Given the description of an element on the screen output the (x, y) to click on. 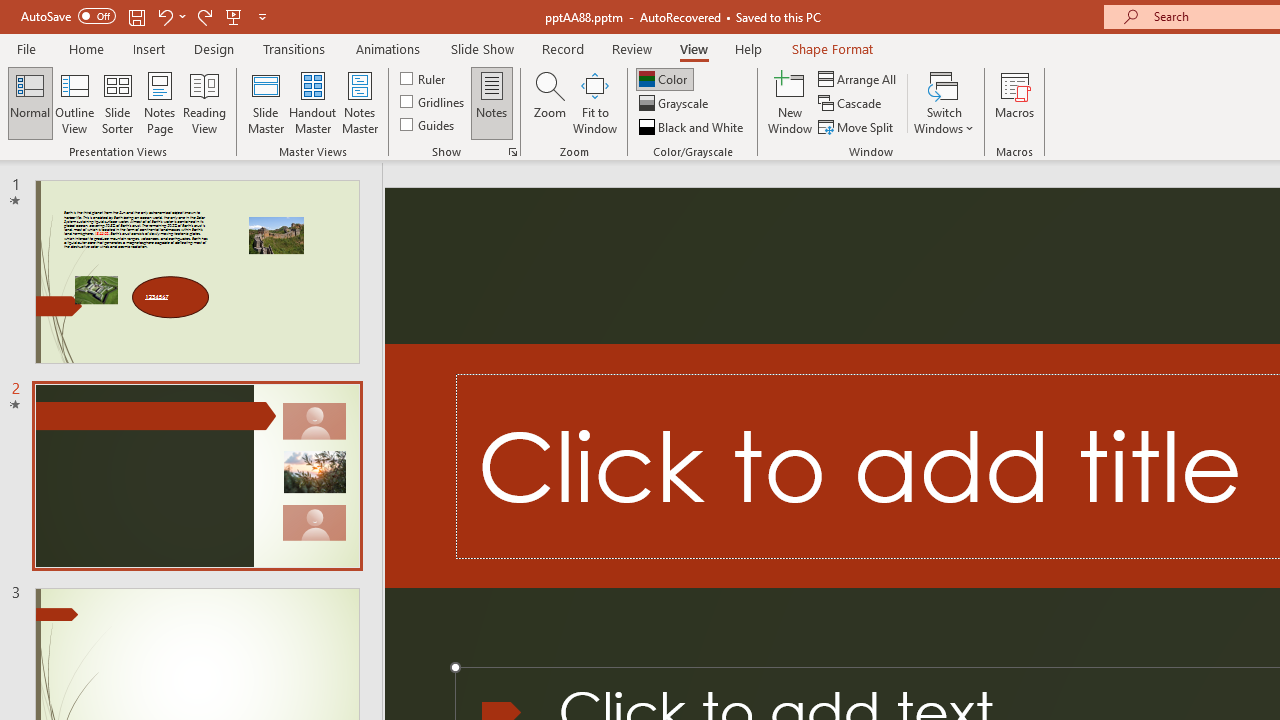
New Window (790, 102)
Fit to Window (594, 102)
Ruler (423, 78)
Notes Page (159, 102)
Arrange All (858, 78)
Switch Windows (943, 102)
Notes (492, 102)
Zoom... (549, 102)
